Given the description of an element on the screen output the (x, y) to click on. 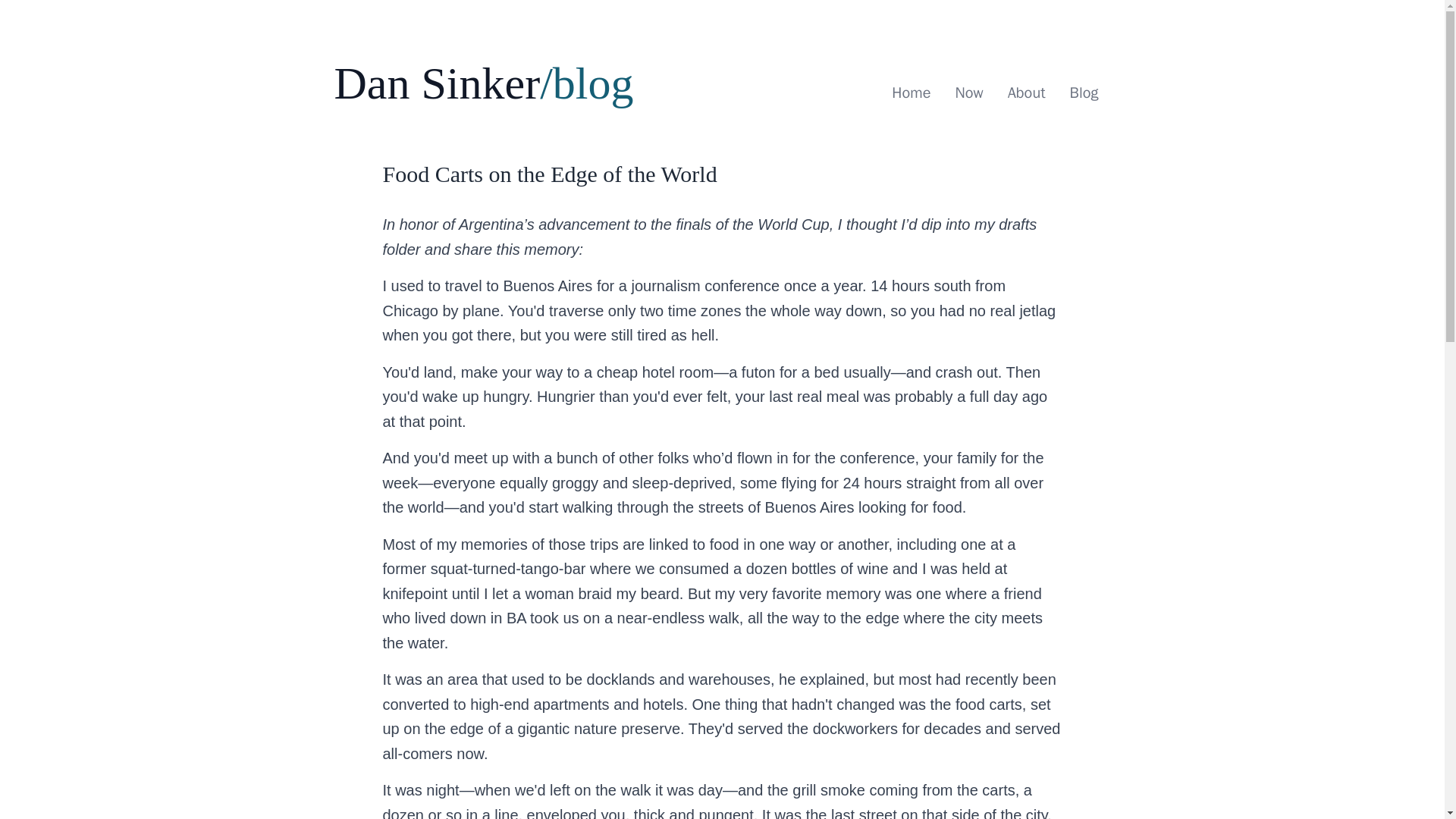
Now (968, 93)
Blog (1084, 93)
Home (910, 93)
Dan Sinker (436, 83)
About (1026, 93)
